Given the description of an element on the screen output the (x, y) to click on. 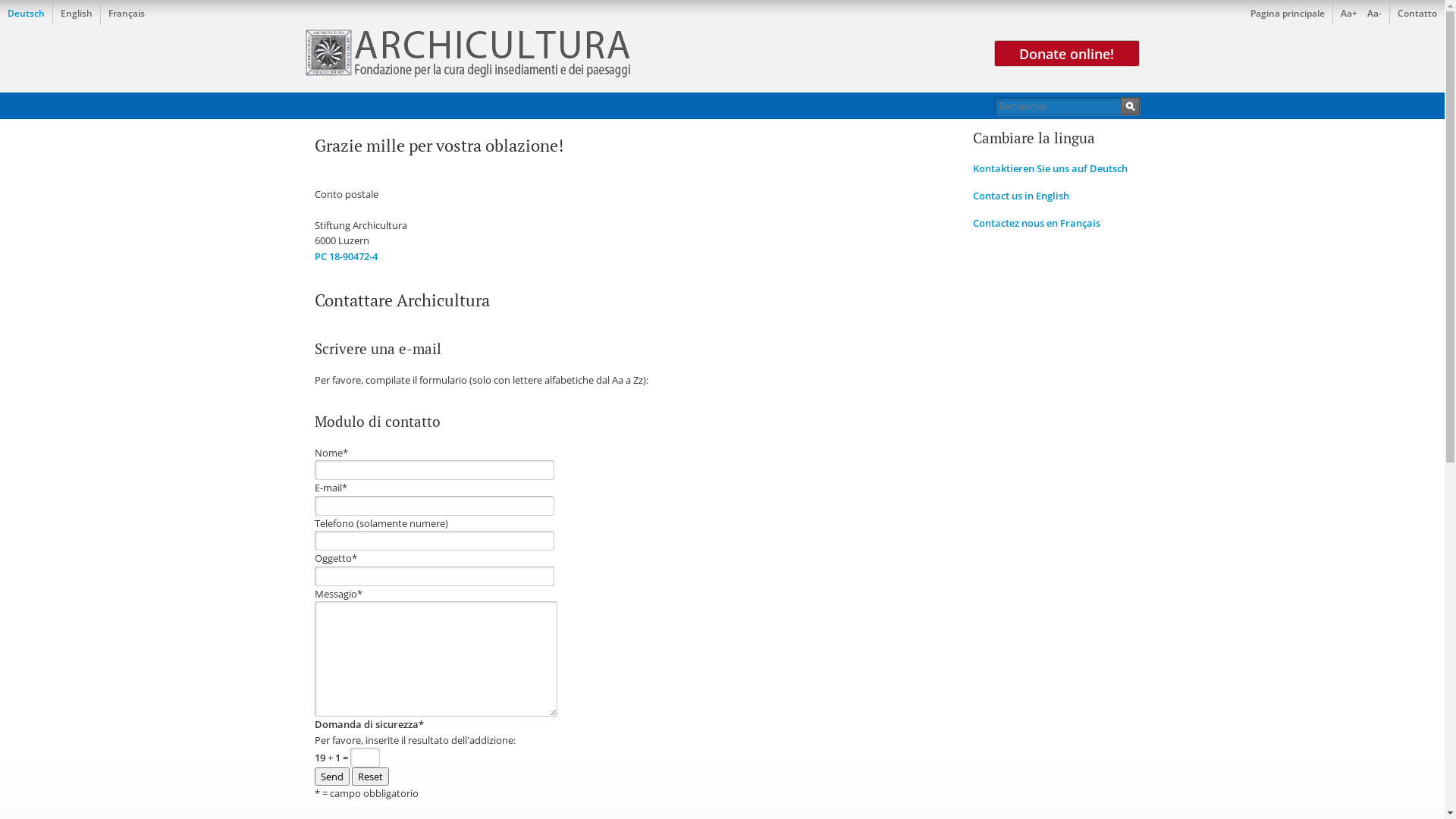
Deutsch Element type: text (26, 13)
Donate online! Element type: text (1066, 53)
Aa+ Element type: text (1349, 13)
Contatto Element type: text (1417, 13)
Send Element type: text (330, 776)
PC 18-90472-4 Element type: text (344, 256)
Pagina principale Element type: text (1287, 13)
Kontaktieren Sie uns auf Deutsch Element type: text (1049, 168)
Aa- Element type: text (1374, 13)
Recherche Element type: text (1129, 106)
Contact us in English Element type: text (1020, 195)
English Element type: text (76, 13)
